Given the description of an element on the screen output the (x, y) to click on. 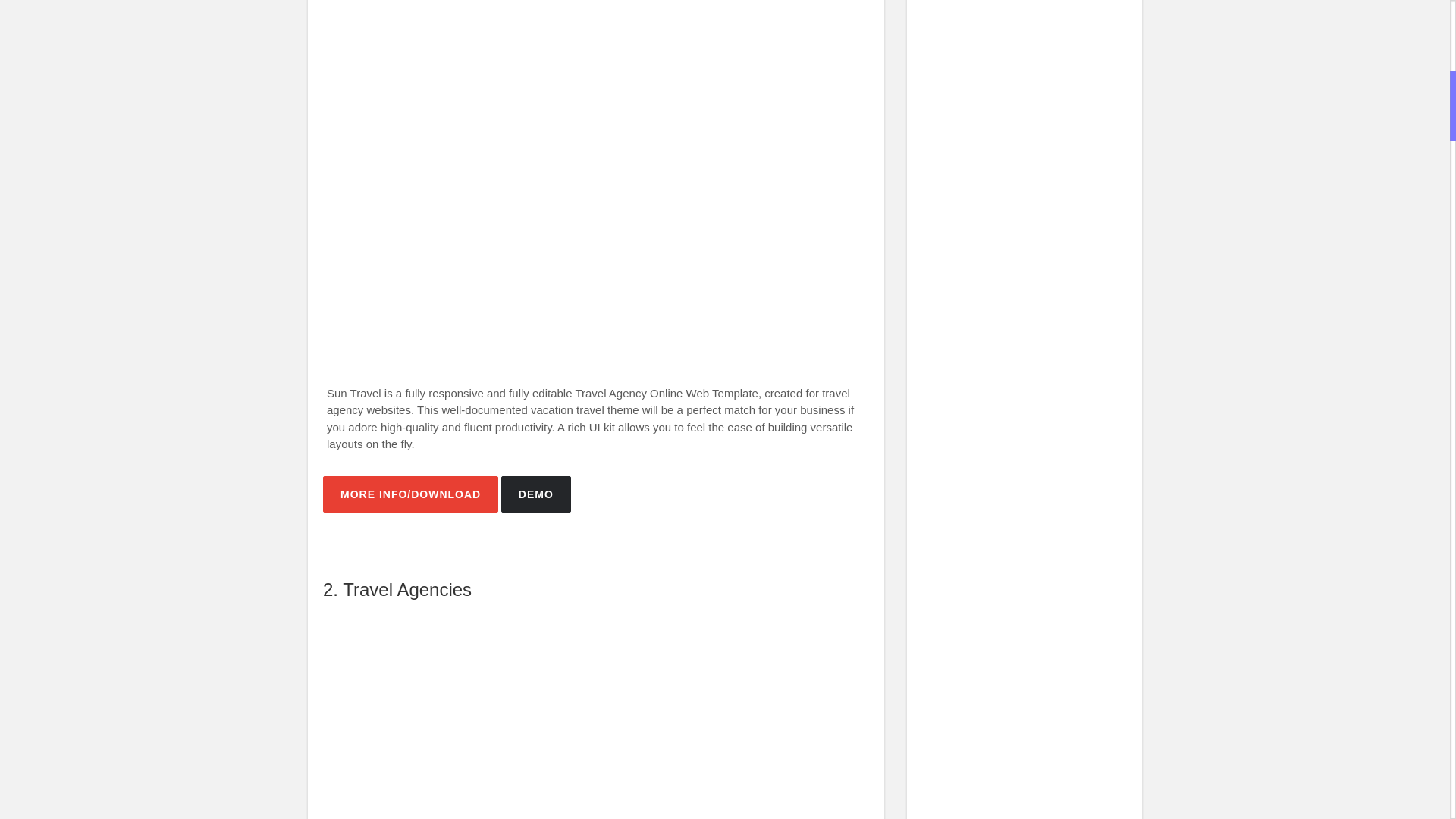
Detail (410, 493)
DEMO (535, 493)
Demo (535, 493)
